Given the description of an element on the screen output the (x, y) to click on. 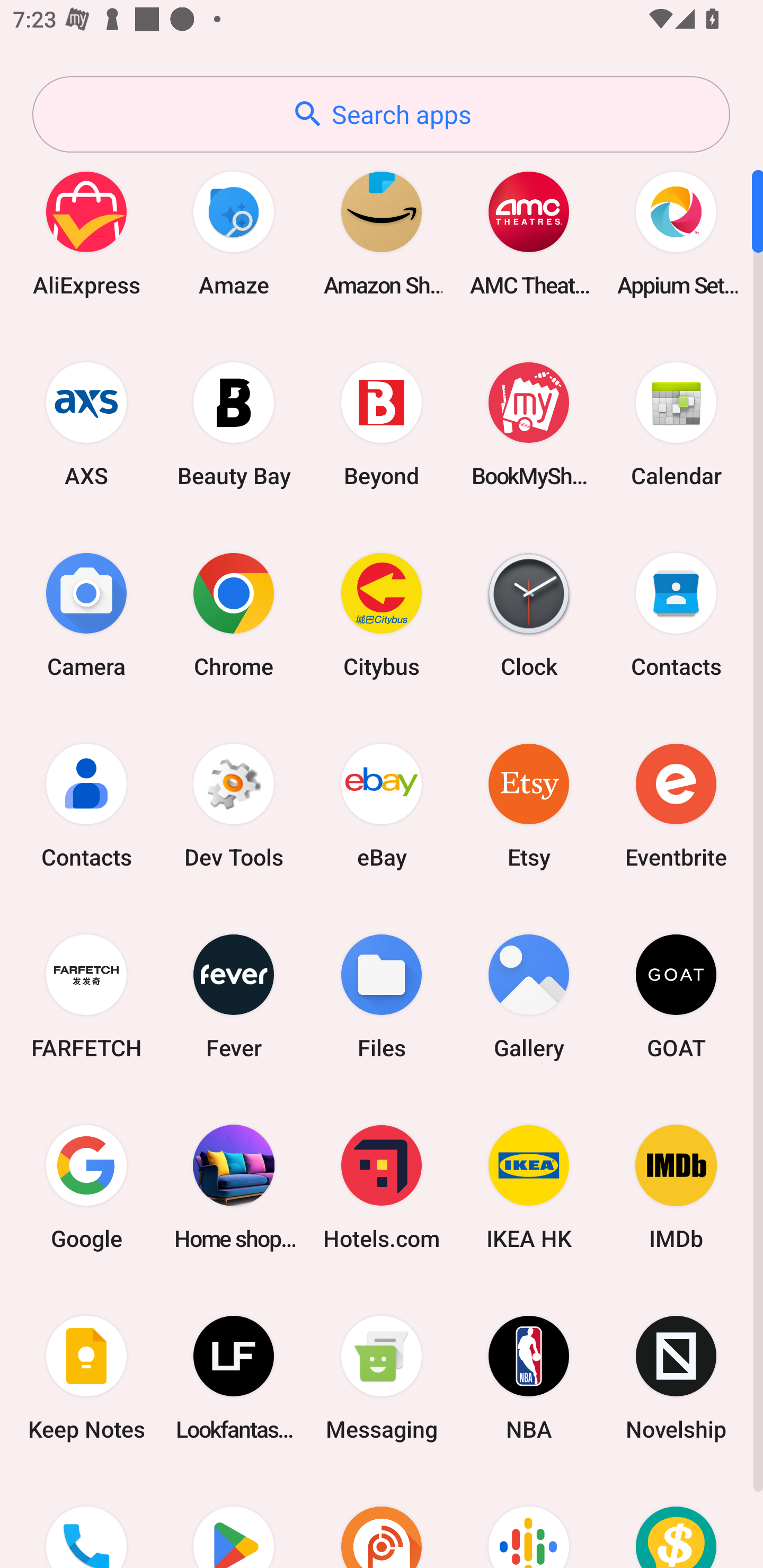
  Search apps (381, 114)
AliExpress (86, 233)
Amaze (233, 233)
Amazon Shopping (381, 233)
AMC Theatres (528, 233)
Appium Settings (676, 233)
AXS (86, 424)
Beauty Bay (233, 424)
Beyond (381, 424)
BookMyShow (528, 424)
Calendar (676, 424)
Camera (86, 614)
Chrome (233, 614)
Citybus (381, 614)
Clock (528, 614)
Contacts (676, 614)
Contacts (86, 805)
Dev Tools (233, 805)
eBay (381, 805)
Etsy (528, 805)
Eventbrite (676, 805)
FARFETCH (86, 996)
Fever (233, 996)
Files (381, 996)
Gallery (528, 996)
GOAT (676, 996)
Google (86, 1186)
Home shopping (233, 1186)
Hotels.com (381, 1186)
IKEA HK (528, 1186)
IMDb (676, 1186)
Keep Notes (86, 1377)
Lookfantastic (233, 1377)
Messaging (381, 1377)
NBA (528, 1377)
Novelship (676, 1377)
Phone (86, 1520)
Play Store (233, 1520)
Podcast Addict (381, 1520)
Podcasts (528, 1520)
Price (676, 1520)
